Given the description of an element on the screen output the (x, y) to click on. 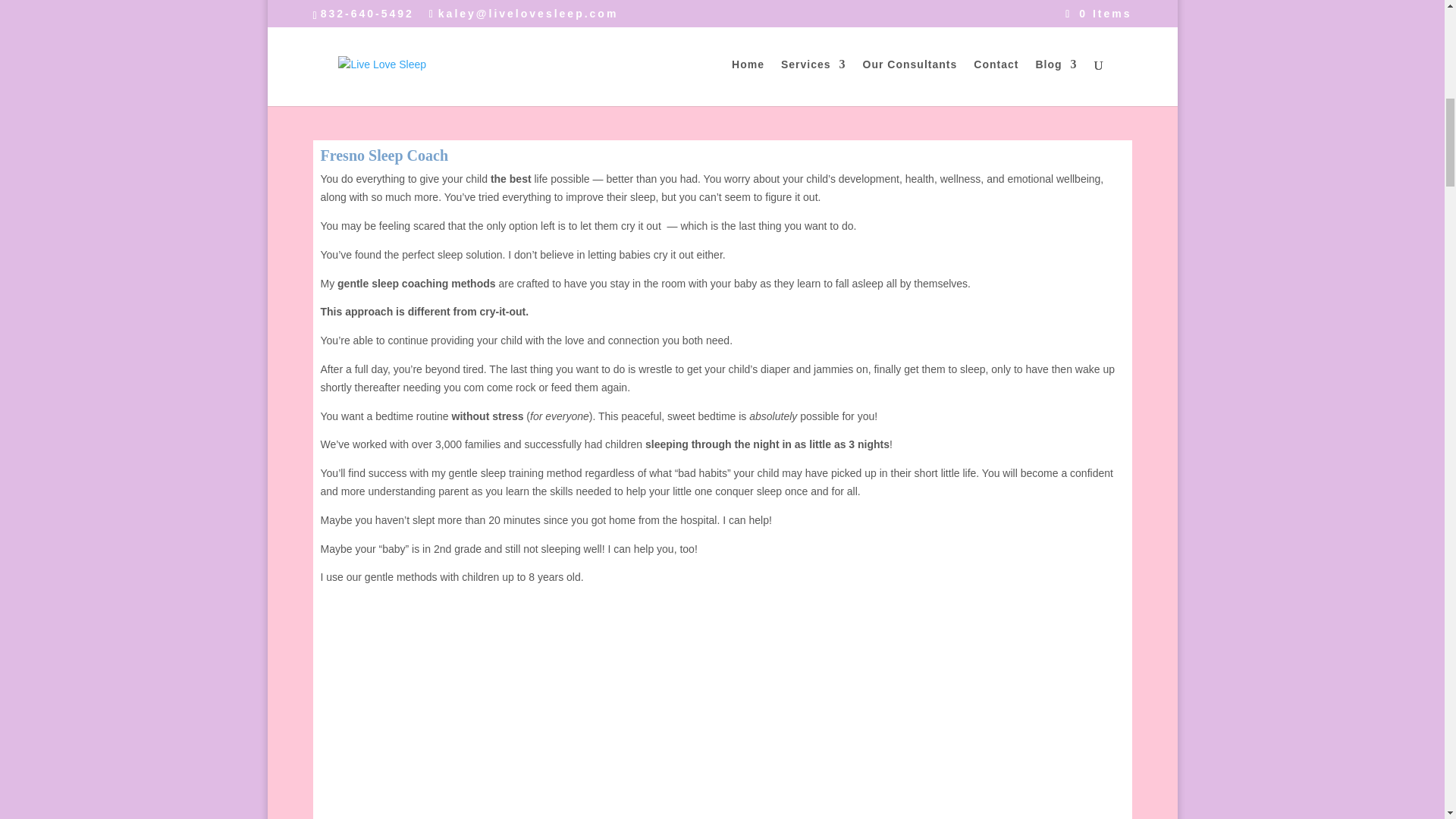
aboutnewborn (911, 52)
InHome Services (722, 714)
Adult Sleep Services (494, 9)
